Given the description of an element on the screen output the (x, y) to click on. 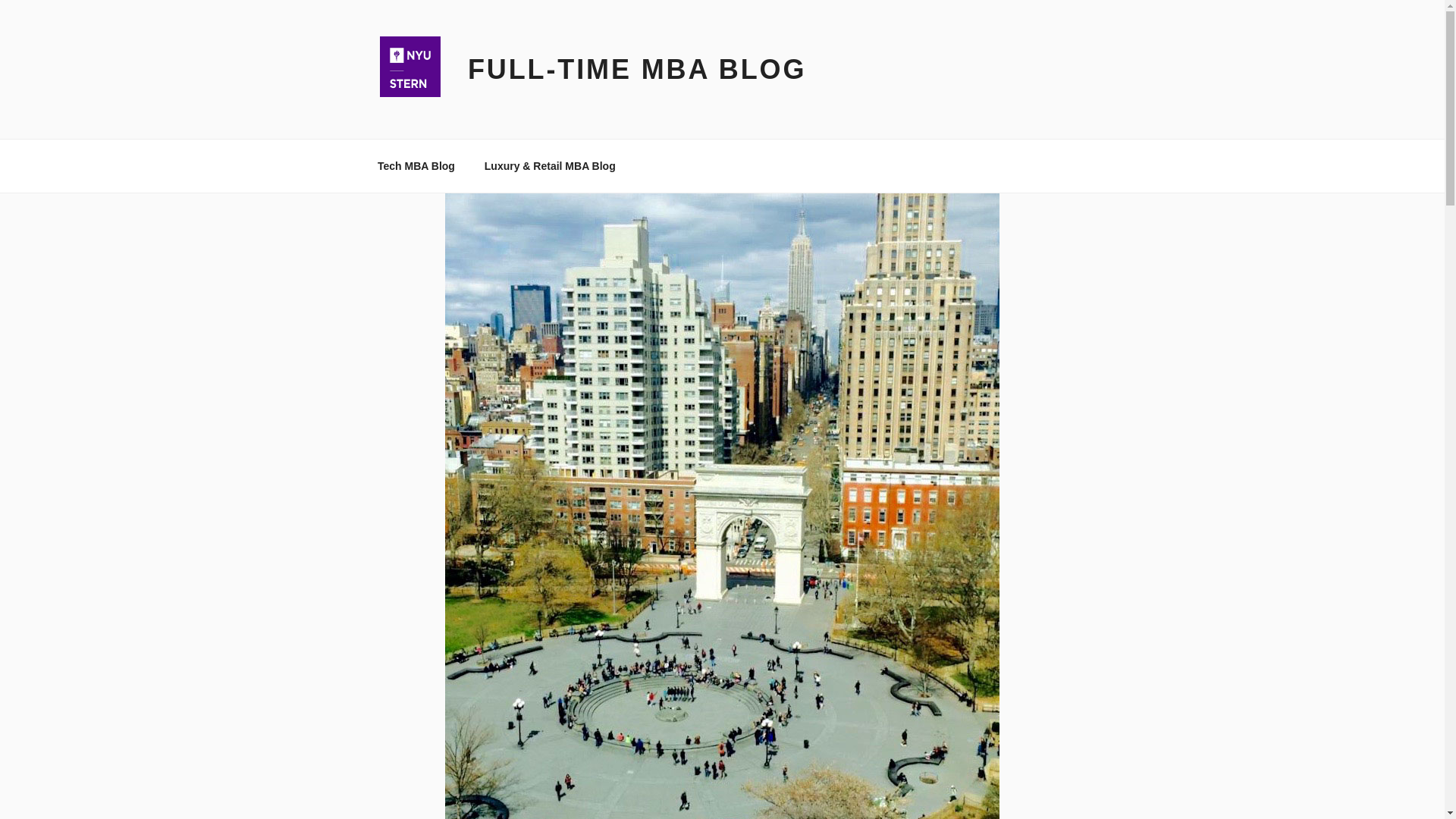
Tech MBA Blog (415, 165)
FULL-TIME MBA BLOG (636, 69)
